Given the description of an element on the screen output the (x, y) to click on. 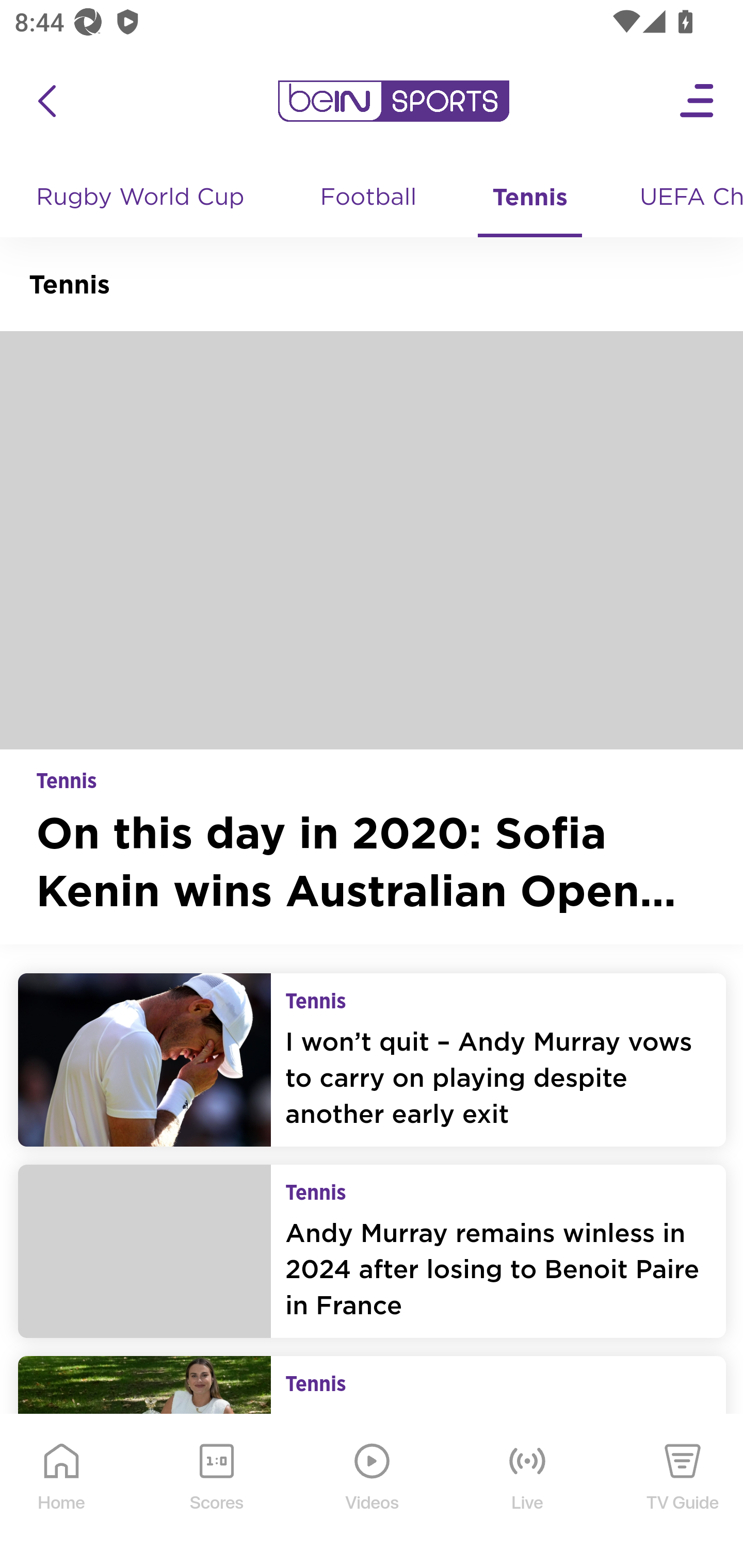
en-my?platform=mobile_android bein logo (392, 101)
icon back (46, 101)
Open Menu Icon (697, 101)
Rugby World Cup (142, 198)
Football (369, 198)
Tennis (530, 198)
UEFA Champions League (683, 198)
Home Home Icon Home (61, 1491)
Scores Scores Icon Scores (216, 1491)
Videos Videos Icon Videos (372, 1491)
TV Guide TV Guide Icon TV Guide (682, 1491)
